Given the description of an element on the screen output the (x, y) to click on. 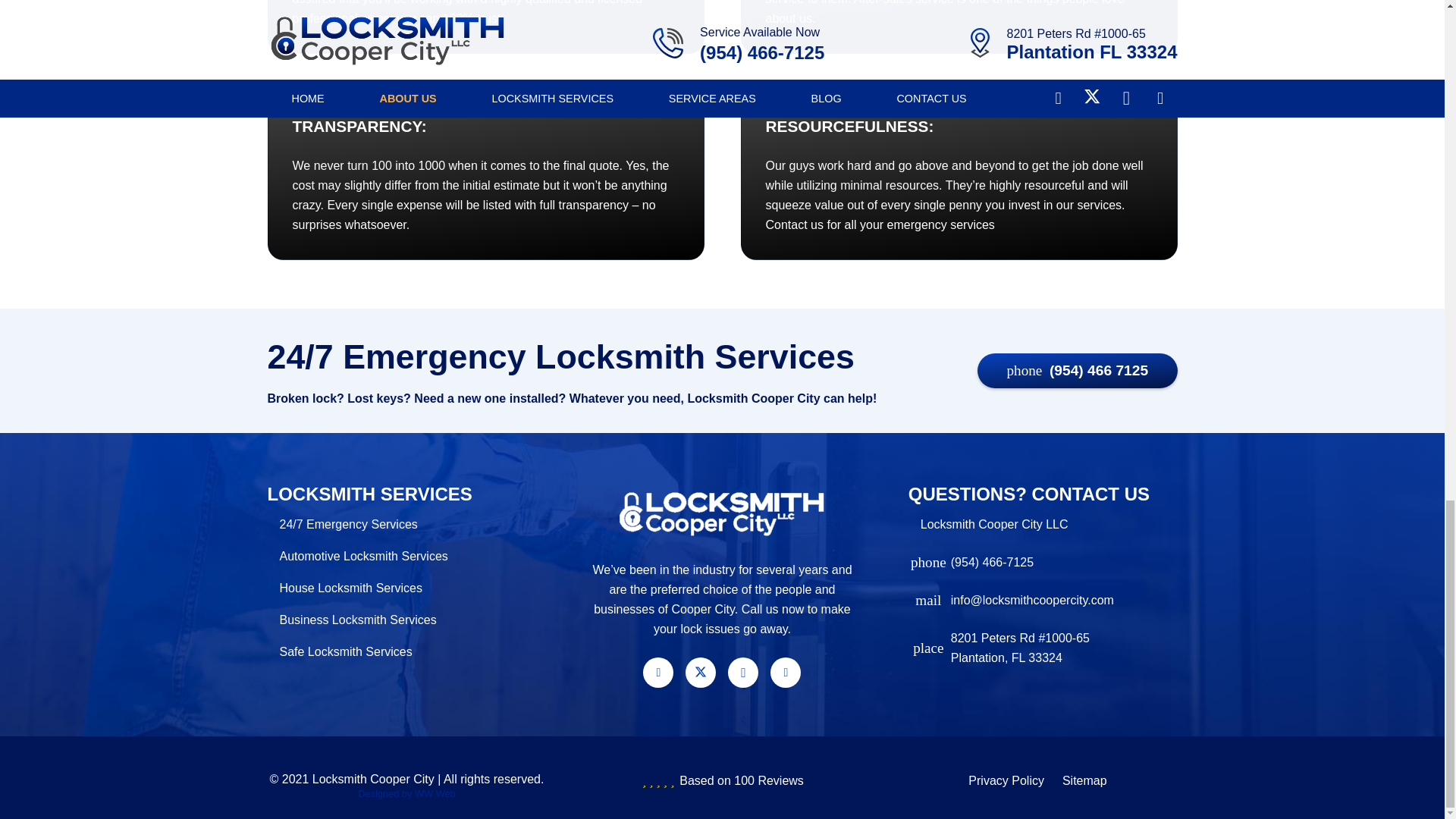
Twitter (700, 672)
LinkedIn (785, 672)
WW Web (434, 793)
Facebook (657, 672)
Sitemap (1084, 780)
Instagram (743, 672)
Privacy Policy (1005, 780)
